Given the description of an element on the screen output the (x, y) to click on. 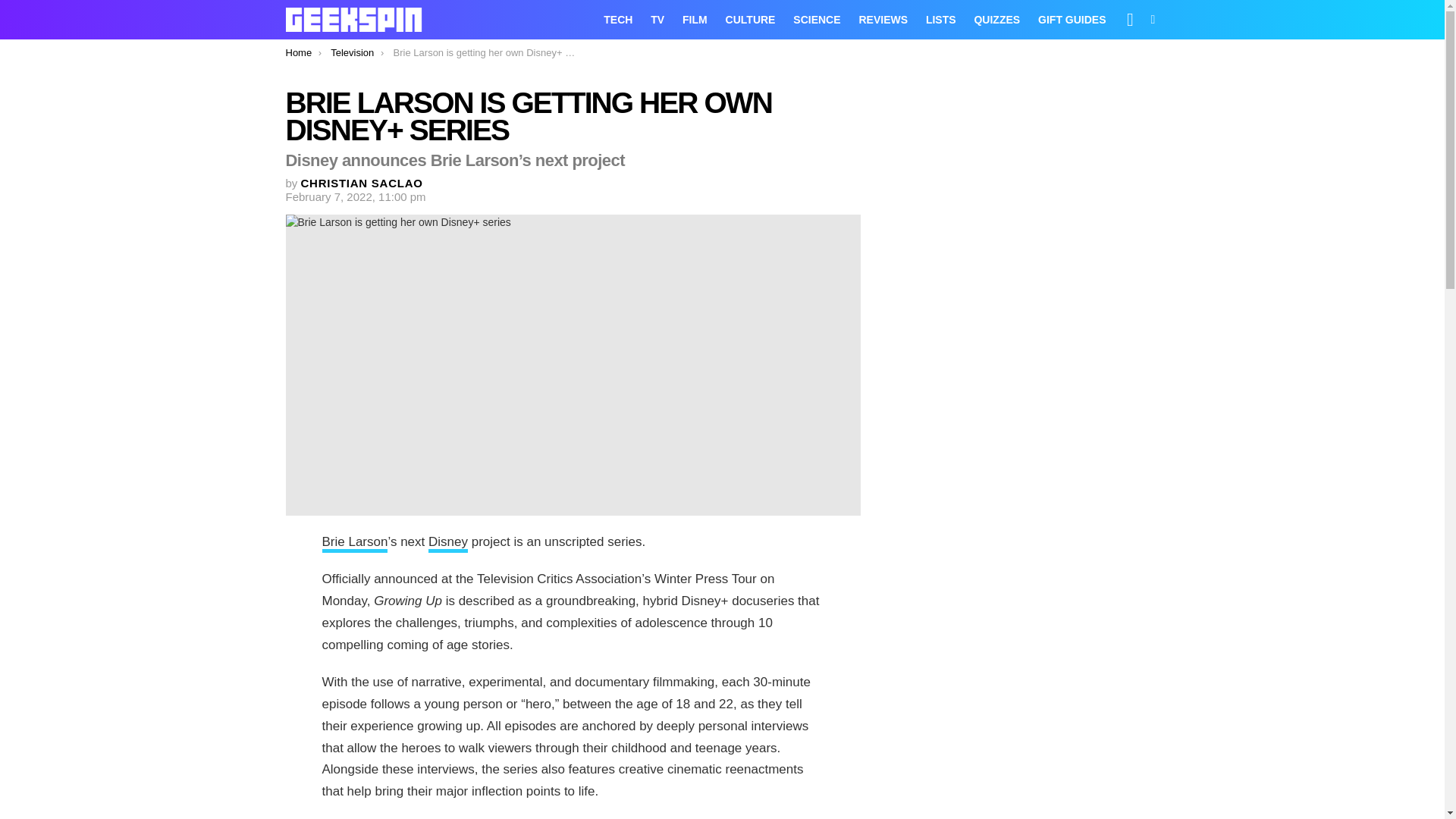
QUIZZES (996, 19)
CULTURE (750, 19)
Disney (447, 543)
SCIENCE (816, 19)
Posts by Christian Saclao (362, 182)
FILM (694, 19)
LISTS (940, 19)
Home (298, 52)
GIFT GUIDES (1071, 19)
TV (657, 19)
Television (352, 52)
CHRISTIAN SACLAO (362, 182)
TECH (617, 19)
Brie Larson (354, 543)
REVIEWS (882, 19)
